Given the description of an element on the screen output the (x, y) to click on. 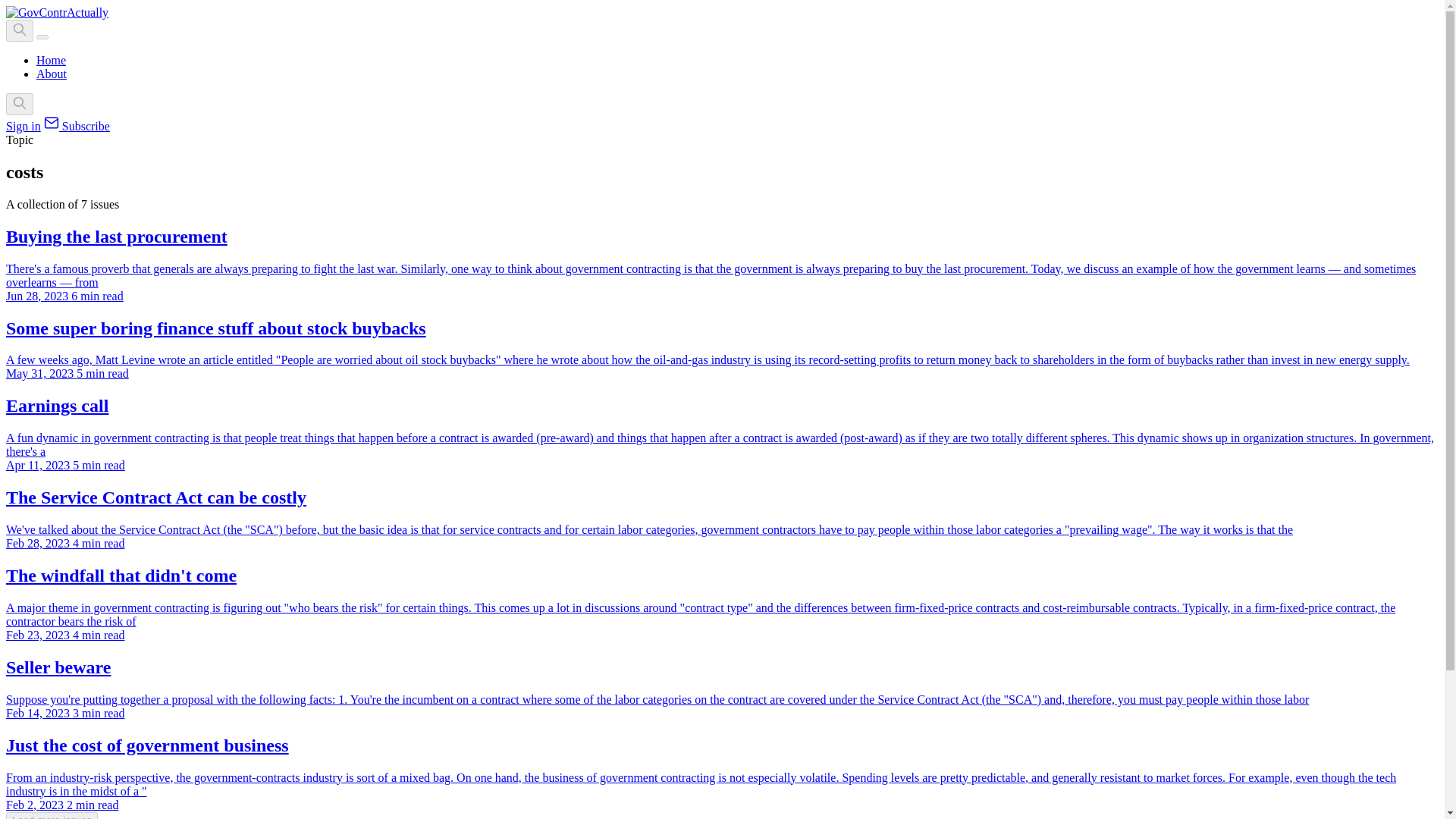
About (51, 73)
Subscribe (76, 125)
Sign in (22, 125)
Home (50, 60)
Load more issues (51, 815)
